Given the description of an element on the screen output the (x, y) to click on. 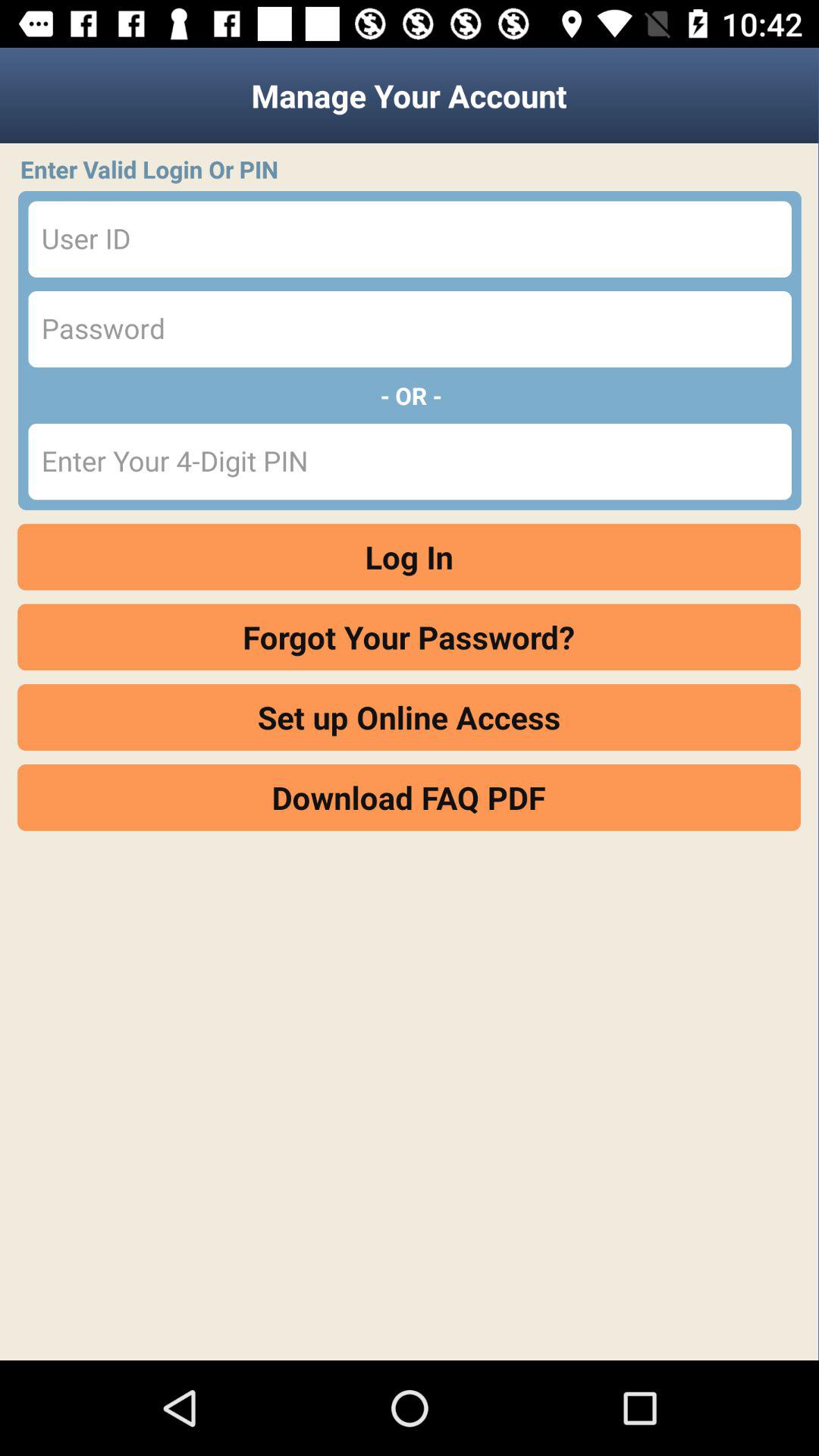
open the set up online (408, 717)
